Given the description of an element on the screen output the (x, y) to click on. 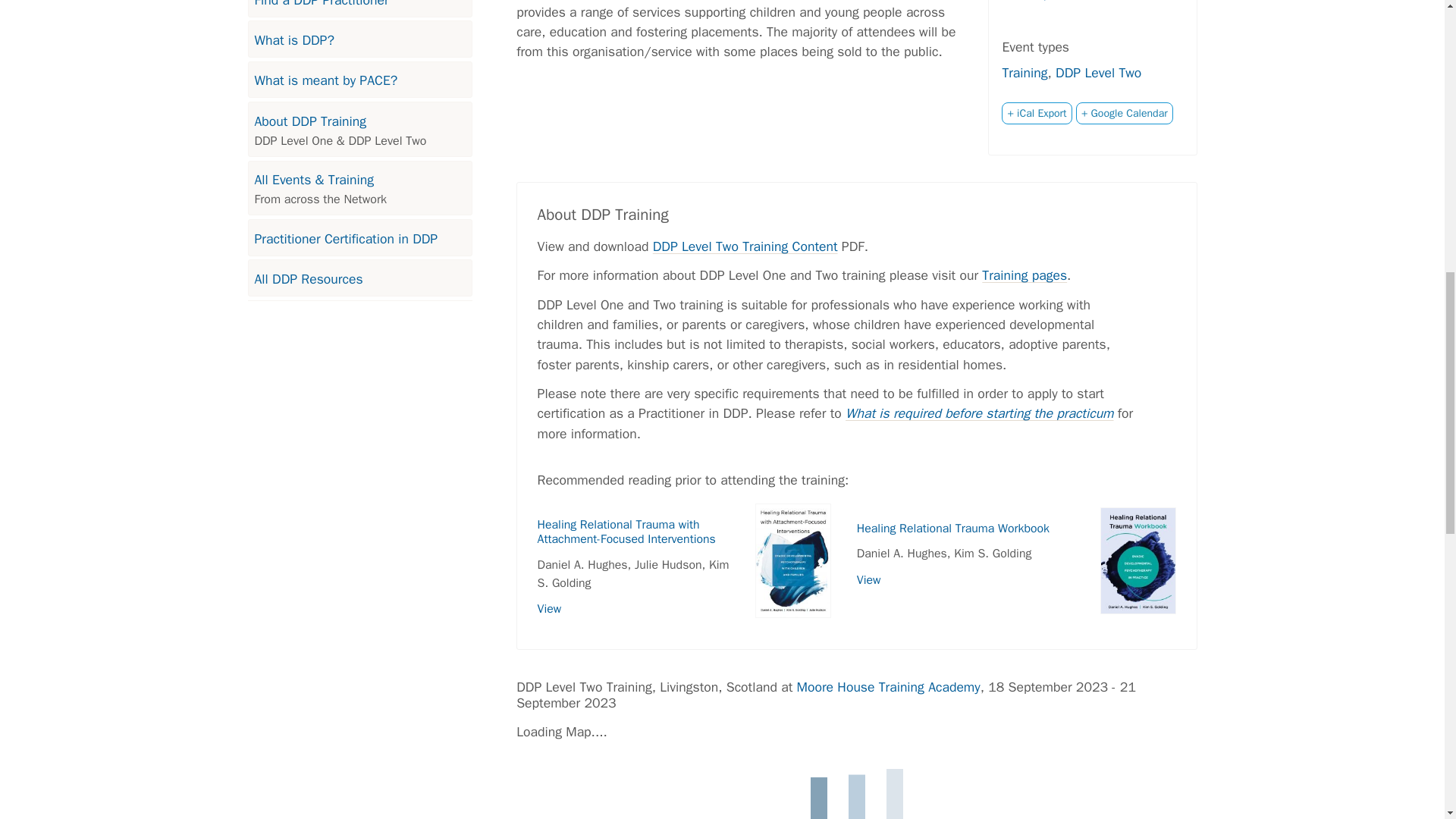
View map (1032, 1)
View map (1032, 1)
DDP Level Two (1098, 72)
DDP Level Two Training Content (745, 246)
Training (1023, 72)
